Given the description of an element on the screen output the (x, y) to click on. 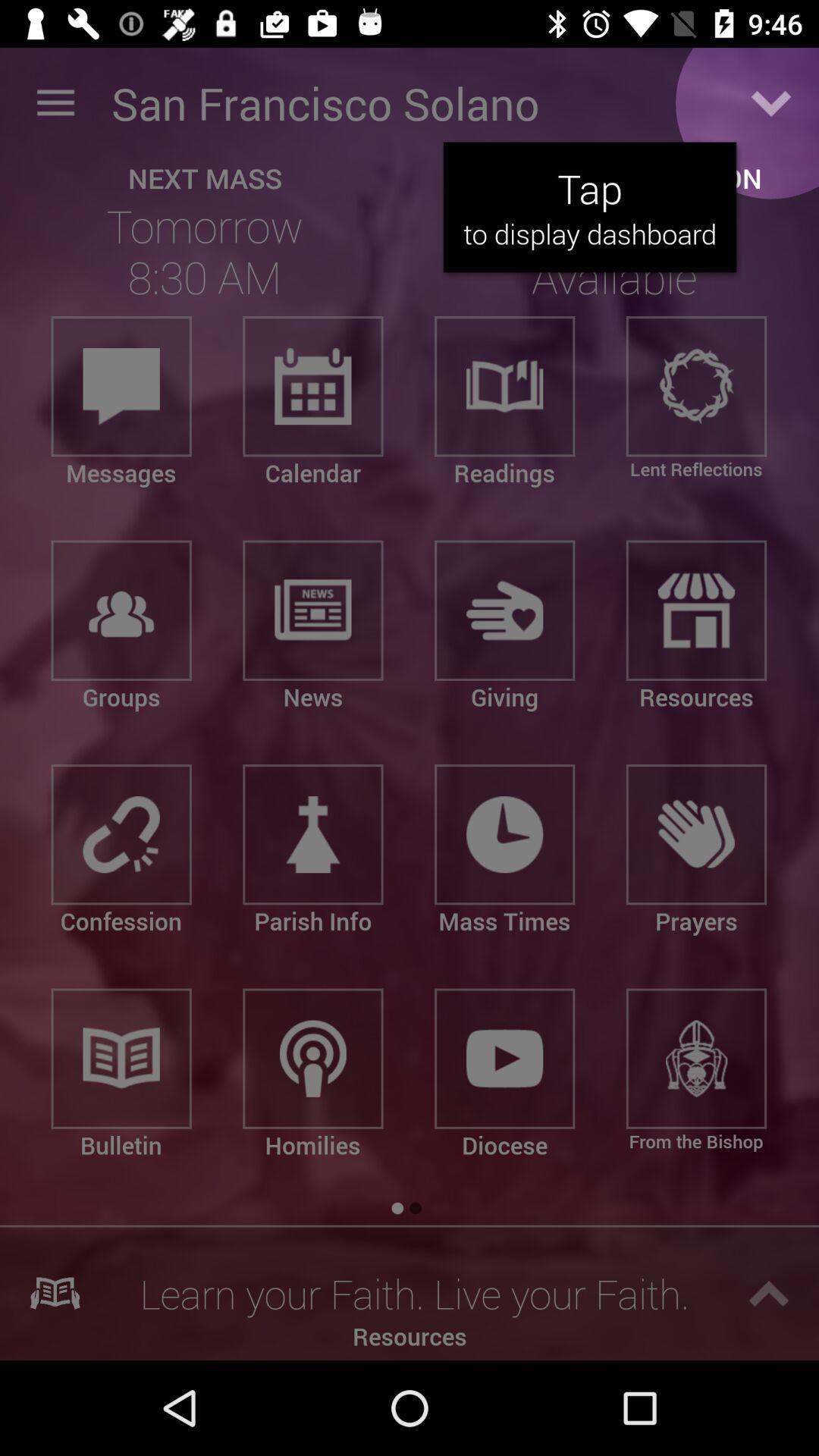
click the item above my next confession (771, 103)
